Given the description of an element on the screen output the (x, y) to click on. 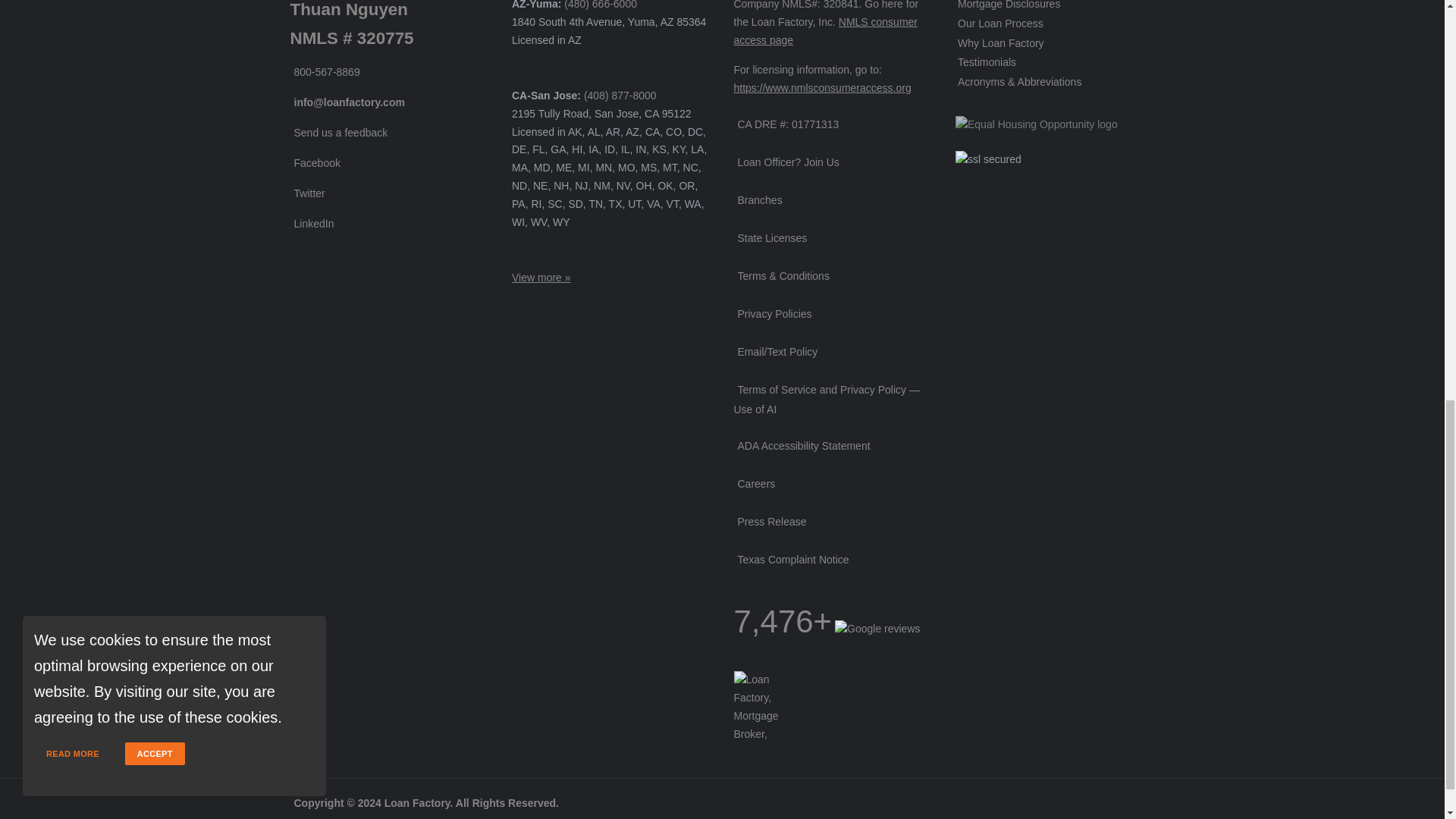
800-567-8869 (324, 71)
Twitter (306, 193)
Facebook (314, 162)
LinkedIn (311, 223)
Send us a feedback (338, 132)
